Given the description of an element on the screen output the (x, y) to click on. 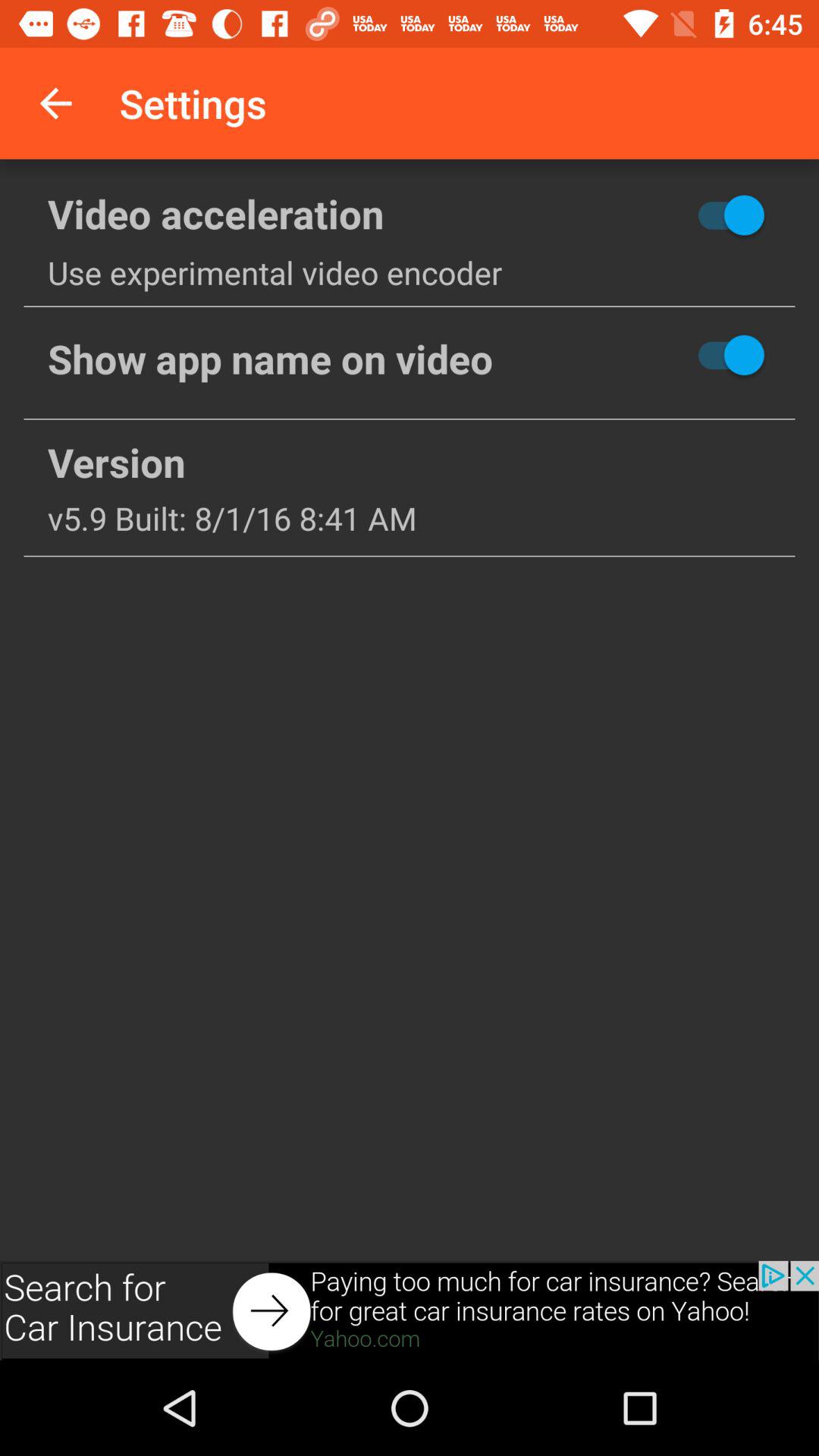
video acceleration on button (675, 214)
